Given the description of an element on the screen output the (x, y) to click on. 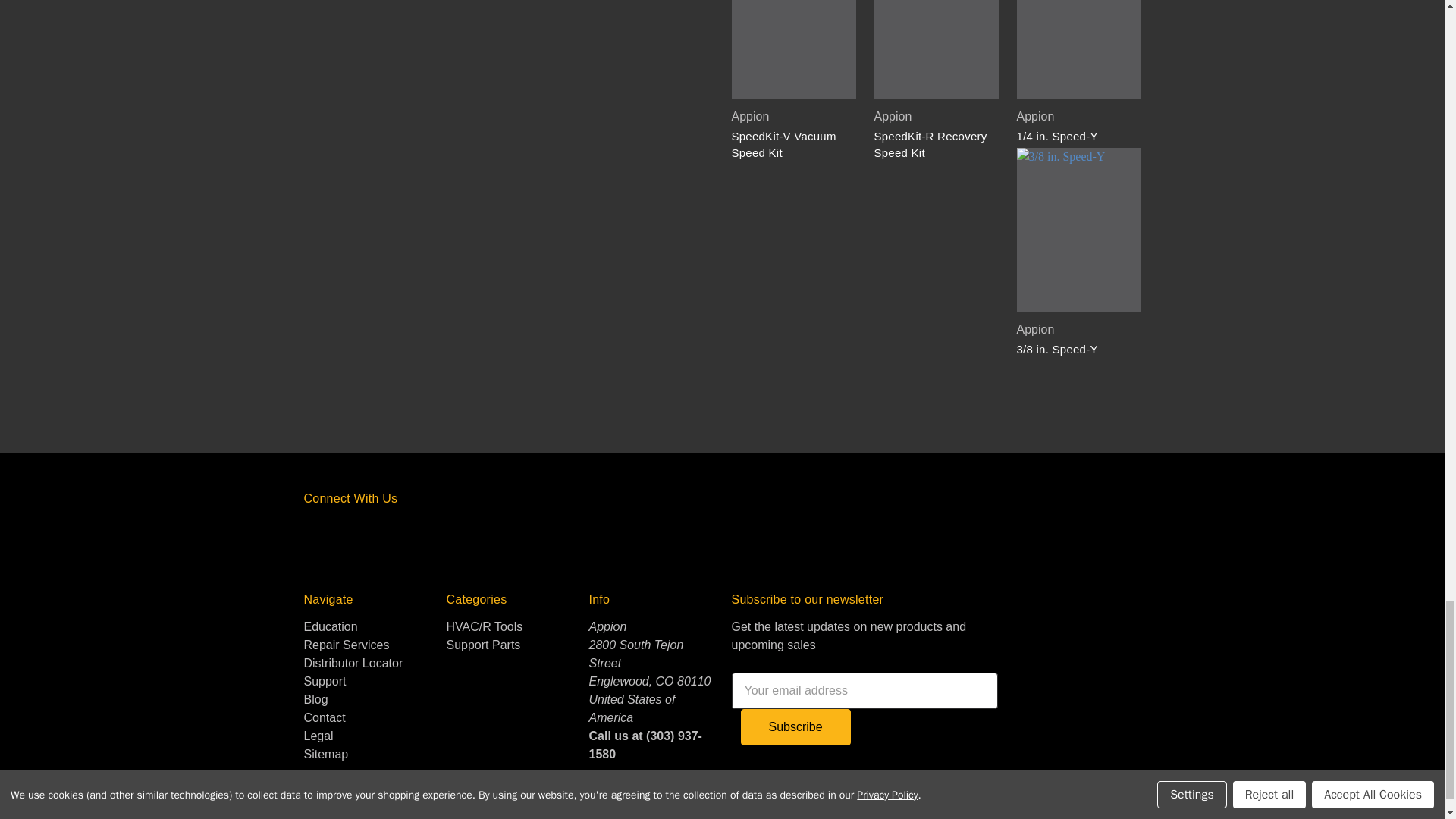
Subscribe (794, 727)
SpeedKit-V (793, 49)
SpeedKit-R (935, 49)
